Given the description of an element on the screen output the (x, y) to click on. 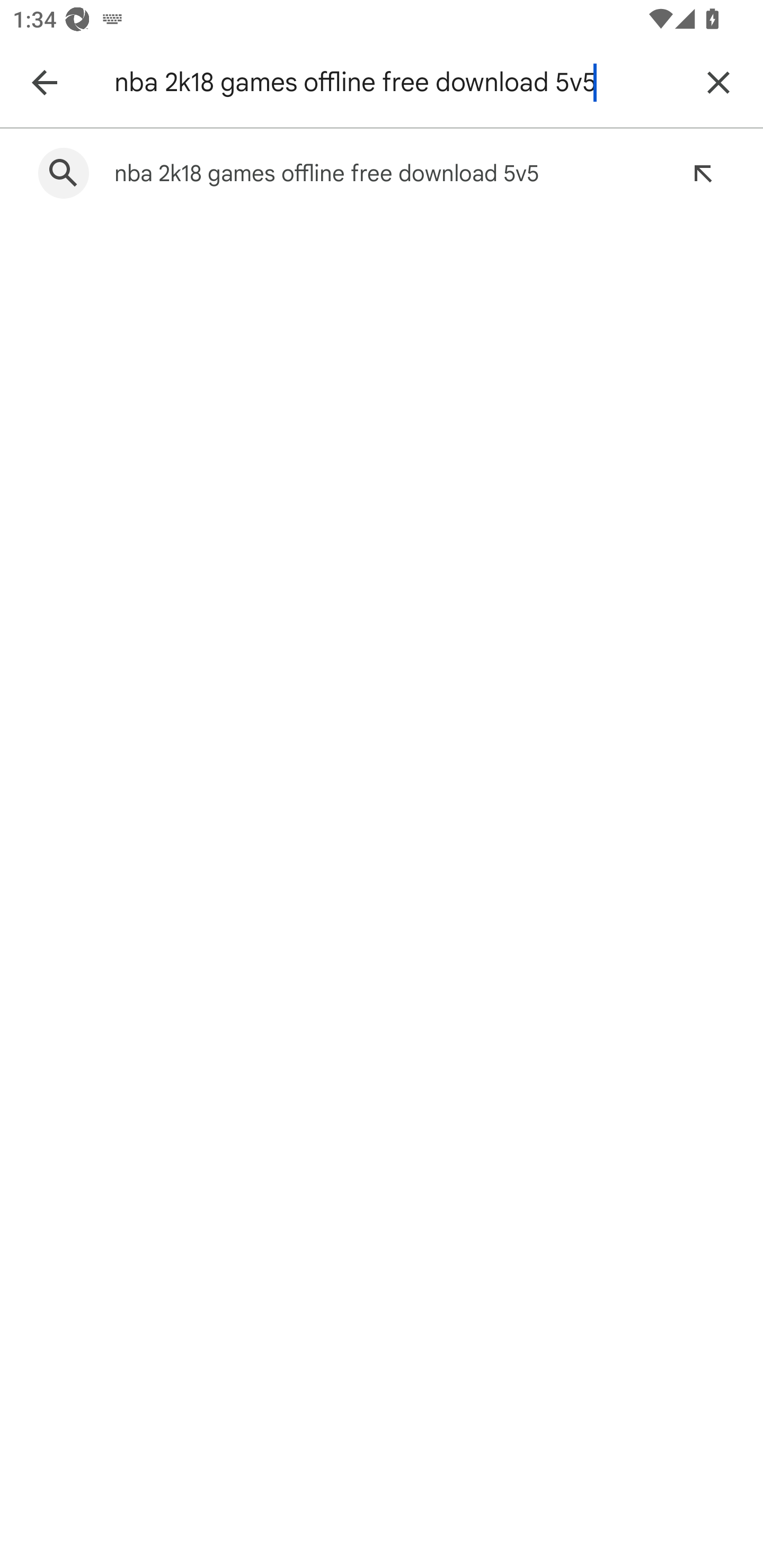
Navigate up (44, 81)
nba 2k18 games offline free download 5v5 (397, 81)
Clear (718, 81)
